Given the description of an element on the screen output the (x, y) to click on. 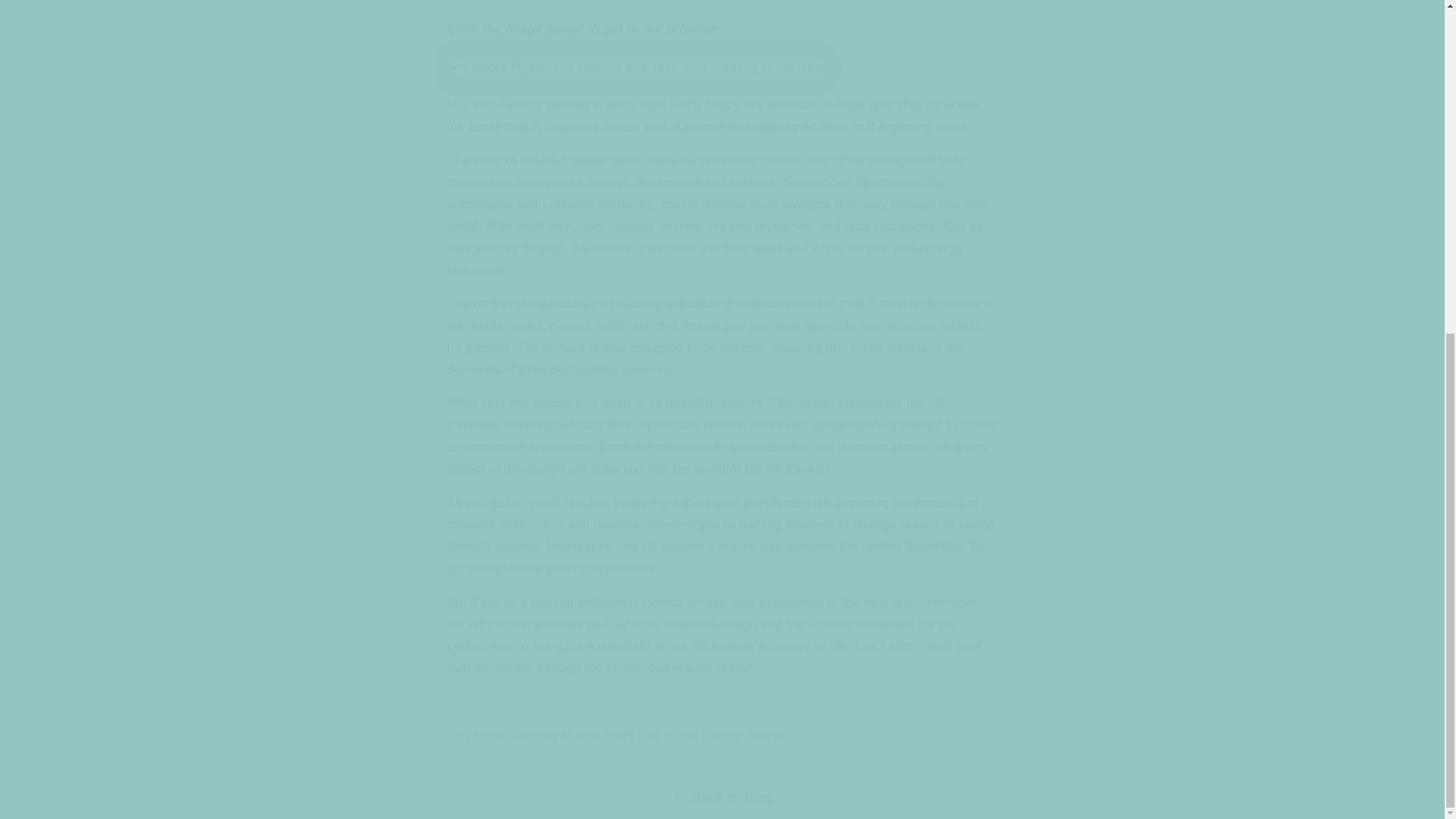
Neduz designs butik (713, 735)
